Given the description of an element on the screen output the (x, y) to click on. 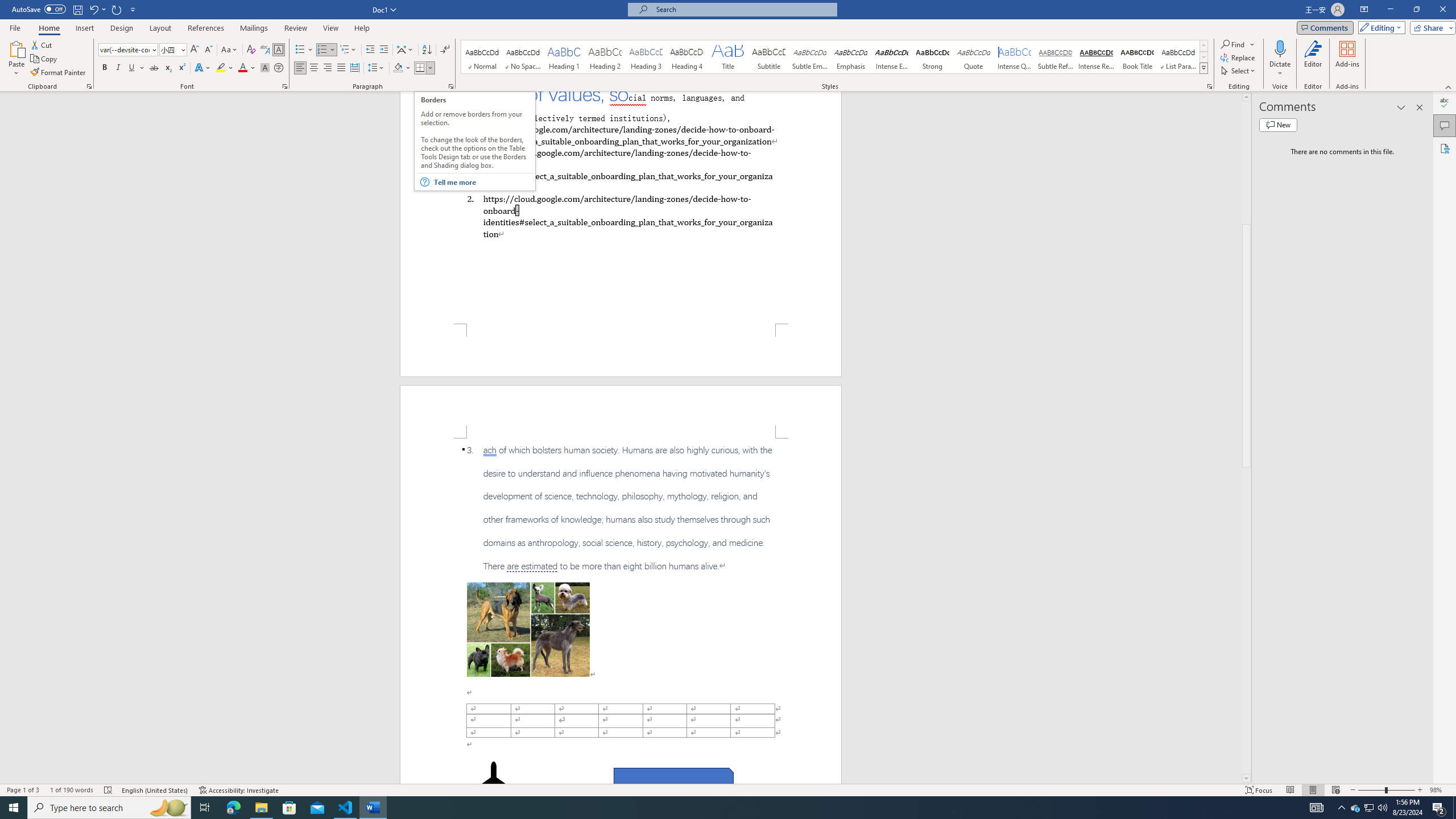
Subtle Reference (1055, 56)
Intense Quote (1014, 56)
Subtitle (768, 56)
Intense Emphasis (891, 56)
Repeat Border Bottom (117, 9)
